Given the description of an element on the screen output the (x, y) to click on. 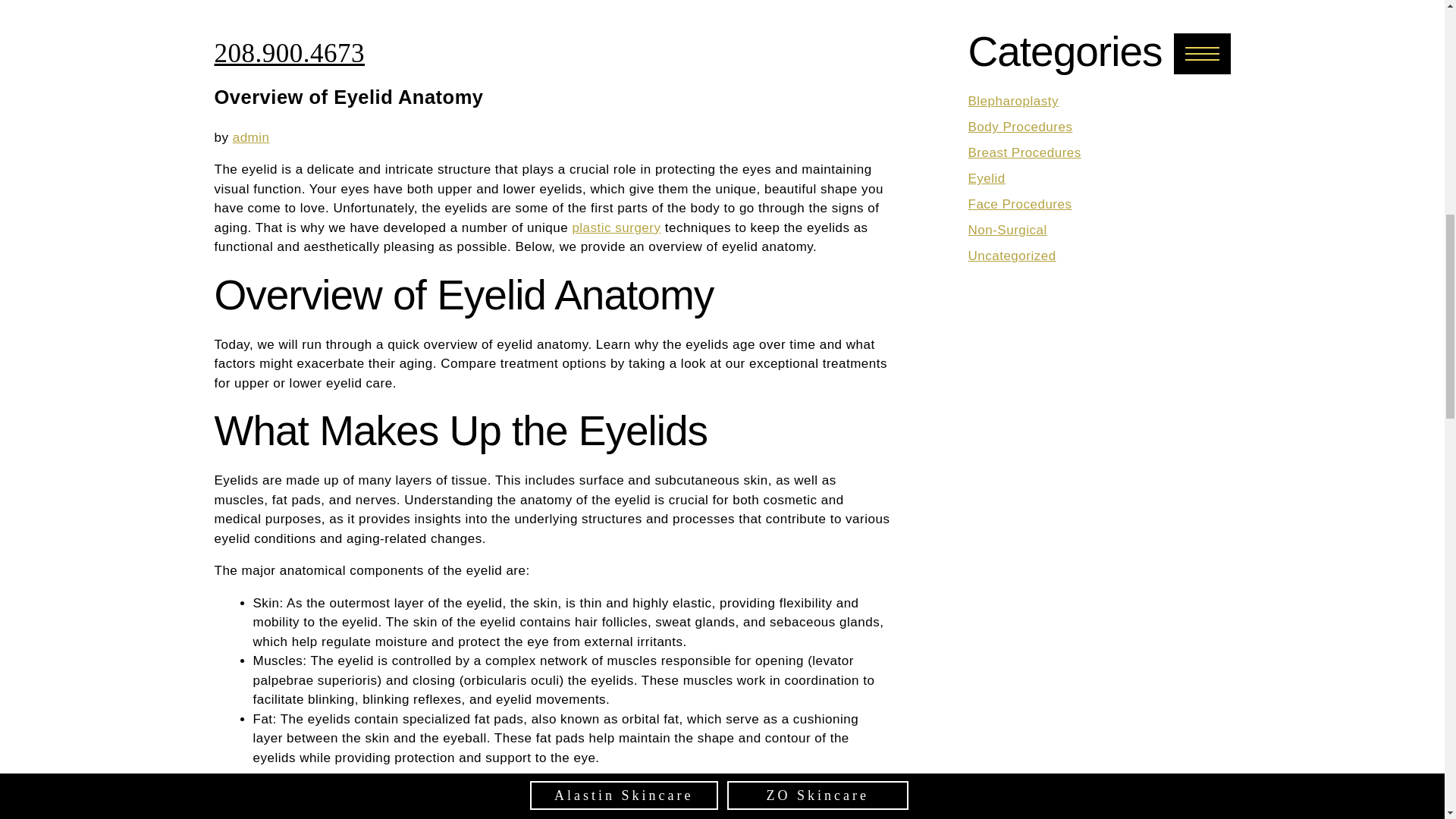
Uncategorized (1011, 255)
Eyelid (986, 178)
Non-Surgical (1007, 229)
View all posts by admin (250, 137)
Body Procedures (1019, 126)
admin (250, 137)
Blepharoplasty (1013, 101)
overview-of-eyelid-anatomy (552, 28)
Breast Procedures (1024, 152)
Face Procedures (1019, 204)
